Given the description of an element on the screen output the (x, y) to click on. 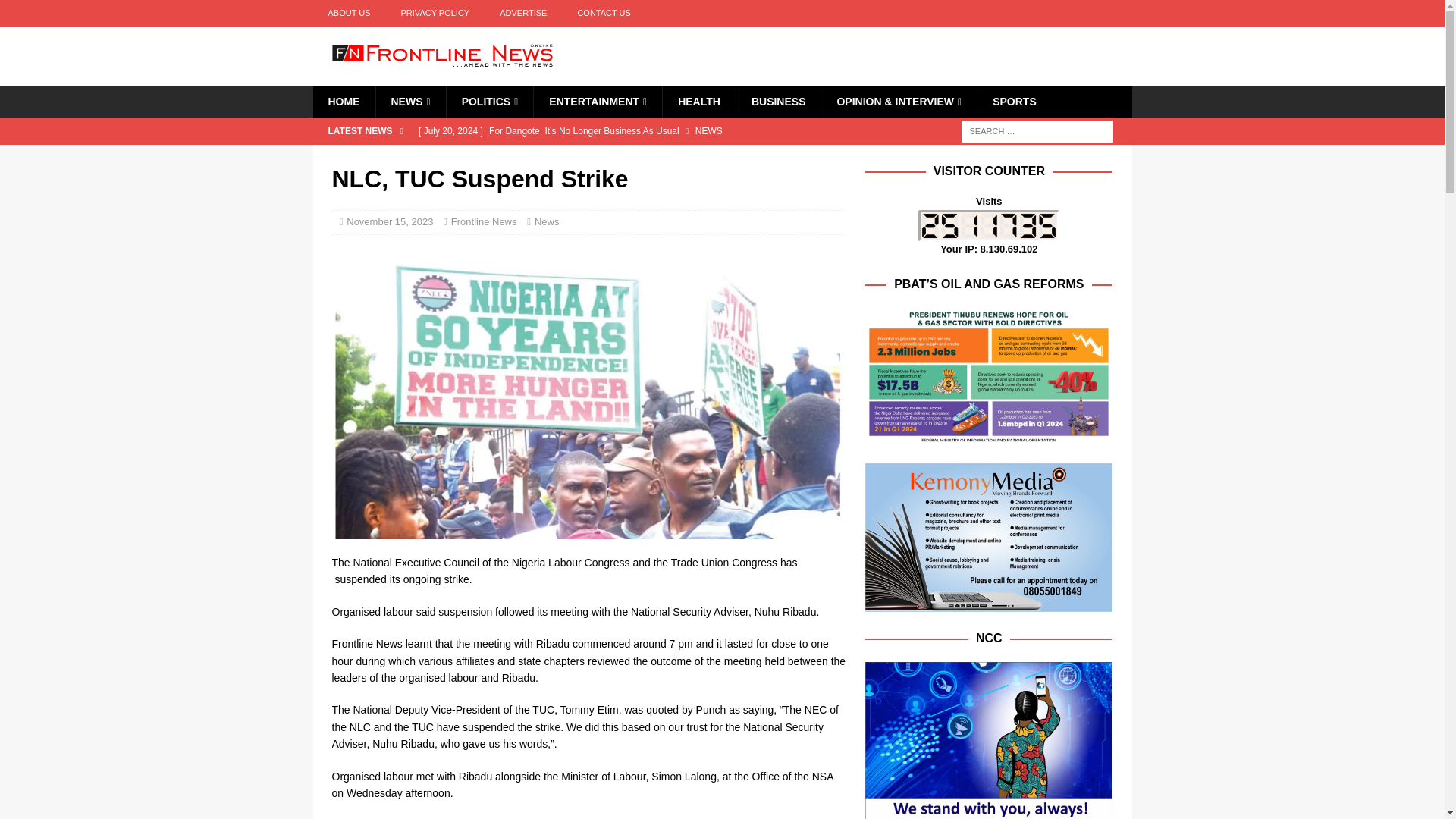
PRIVACY POLICY (434, 13)
HOME (343, 101)
CONTACT US (604, 13)
ADVERTISE (523, 13)
NEWS (409, 101)
ABOUT US (349, 13)
